Given the description of an element on the screen output the (x, y) to click on. 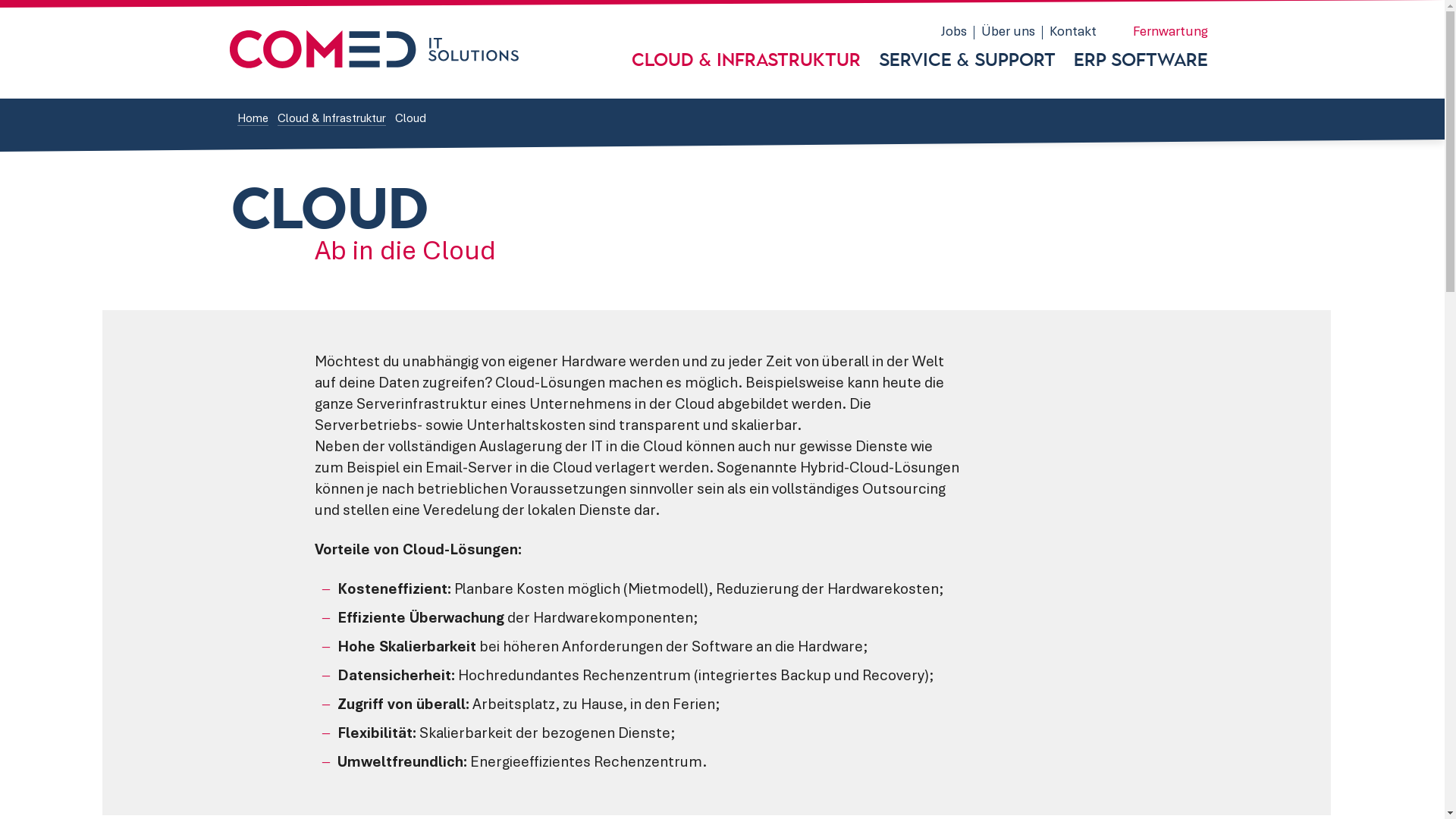
ERP Software Element type: text (1139, 60)
Home Element type: text (251, 118)
Kontakt Element type: text (1072, 32)
Cloud & Infrastruktur Element type: text (331, 118)
Fernwartung Element type: text (1167, 32)
Service & Support Element type: text (966, 60)
Cloud & Infrastruktur Element type: text (745, 60)
Jobs Element type: text (954, 32)
